Given the description of an element on the screen output the (x, y) to click on. 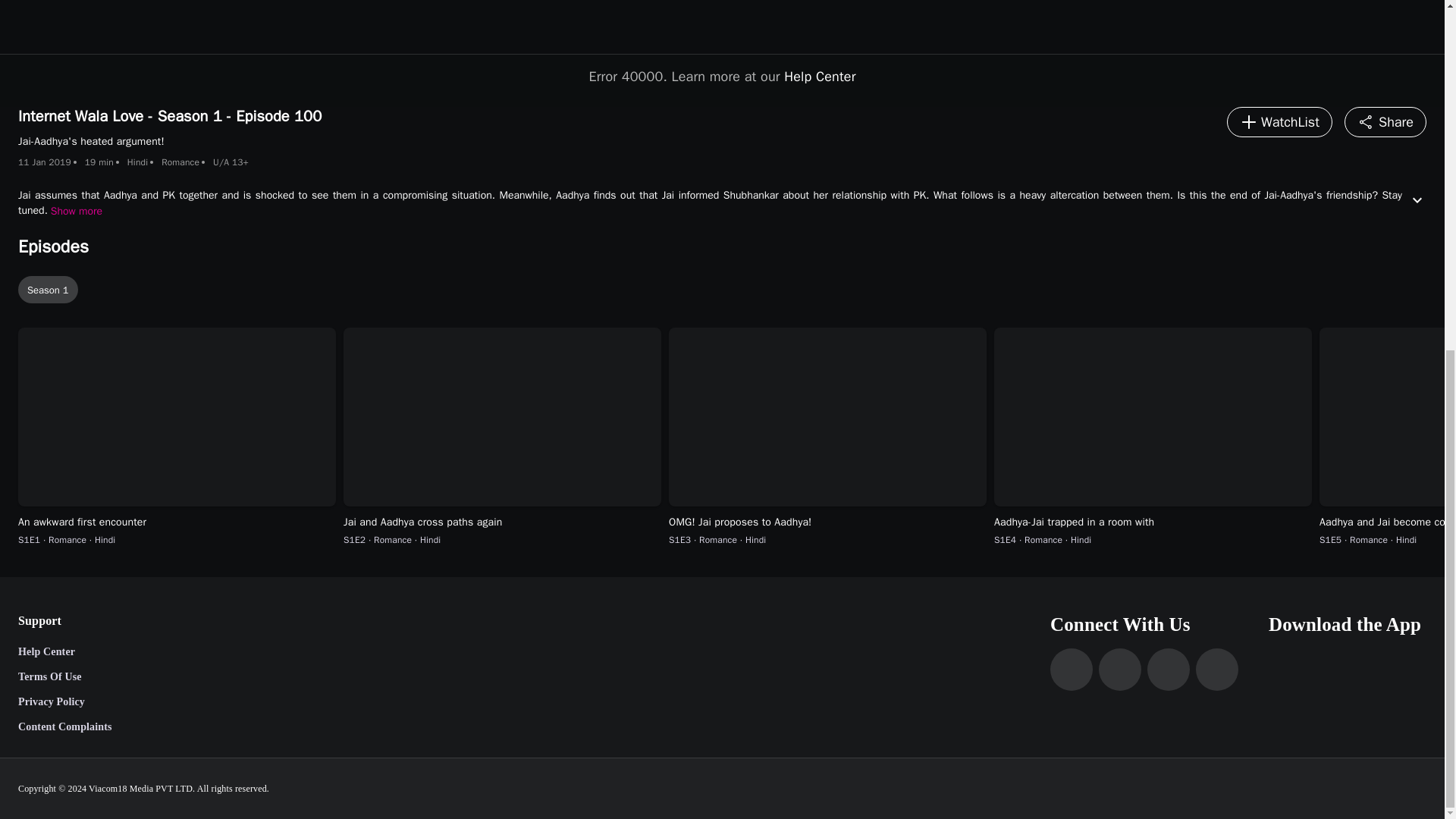
Terms Of Use (64, 676)
Season 1 (724, 289)
Season 1 (724, 289)
Help Center (64, 652)
WatchList (1279, 122)
Download the App (1347, 624)
Privacy Policy (64, 702)
Season 1 (47, 289)
Jai-Aadhya's heated argument! (722, 53)
Share (1384, 122)
Content Complaints (64, 727)
